Given the description of an element on the screen output the (x, y) to click on. 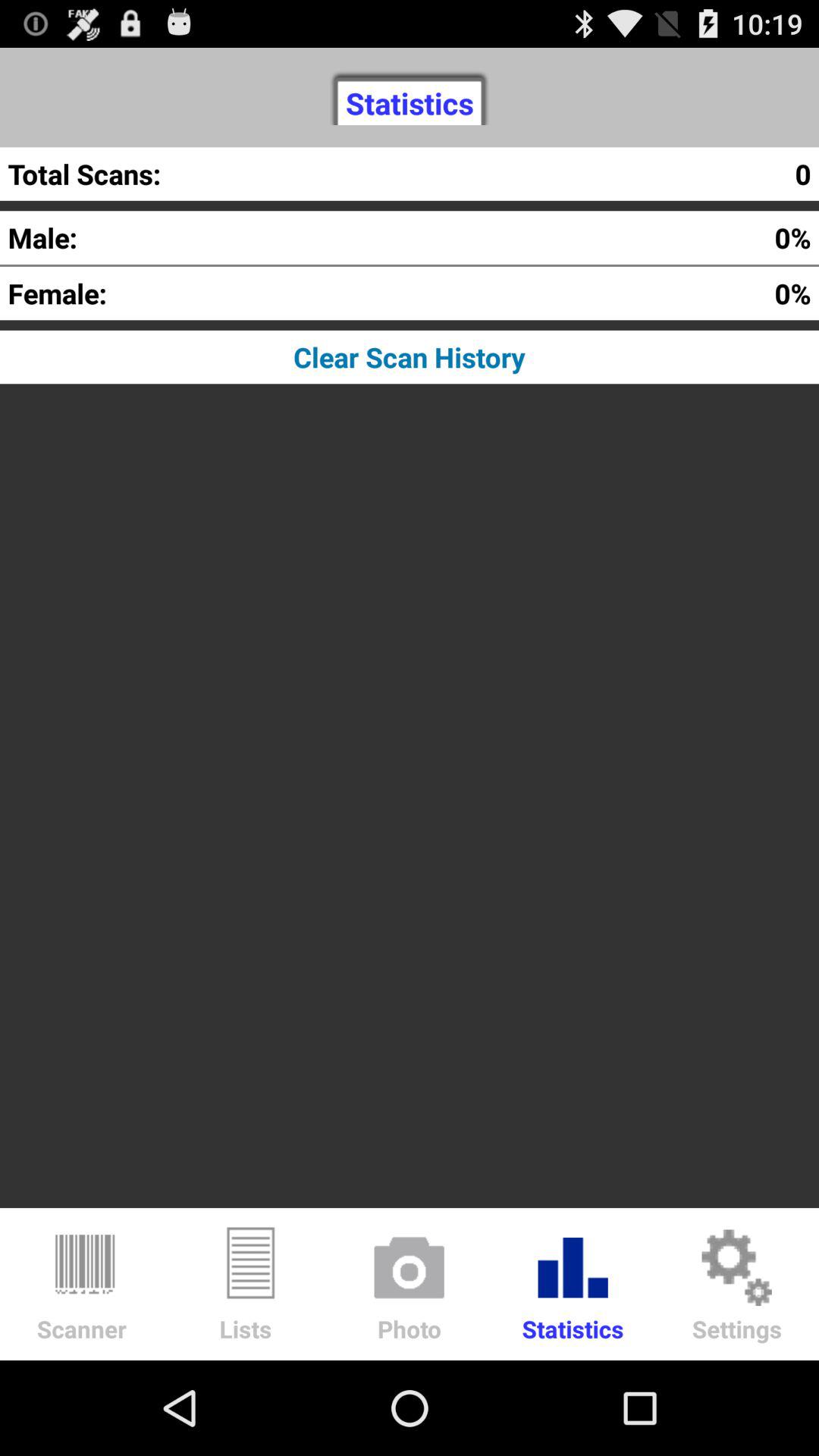
flip to clear scan history (409, 356)
